Given the description of an element on the screen output the (x, y) to click on. 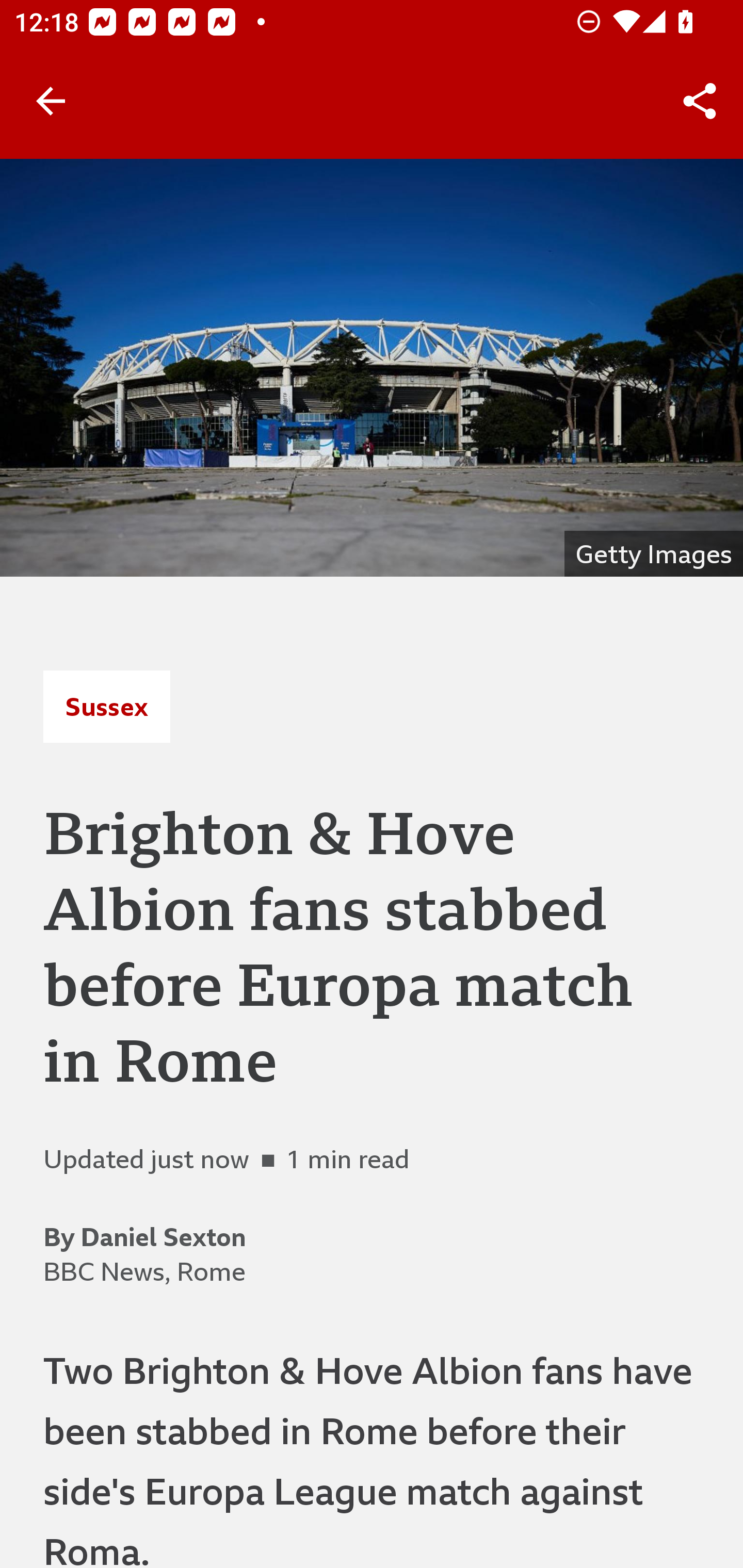
Back (50, 101)
Share (699, 101)
The Stadio Olimpico in Rome, Italy (371, 367)
Sussex (106, 706)
